Given the description of an element on the screen output the (x, y) to click on. 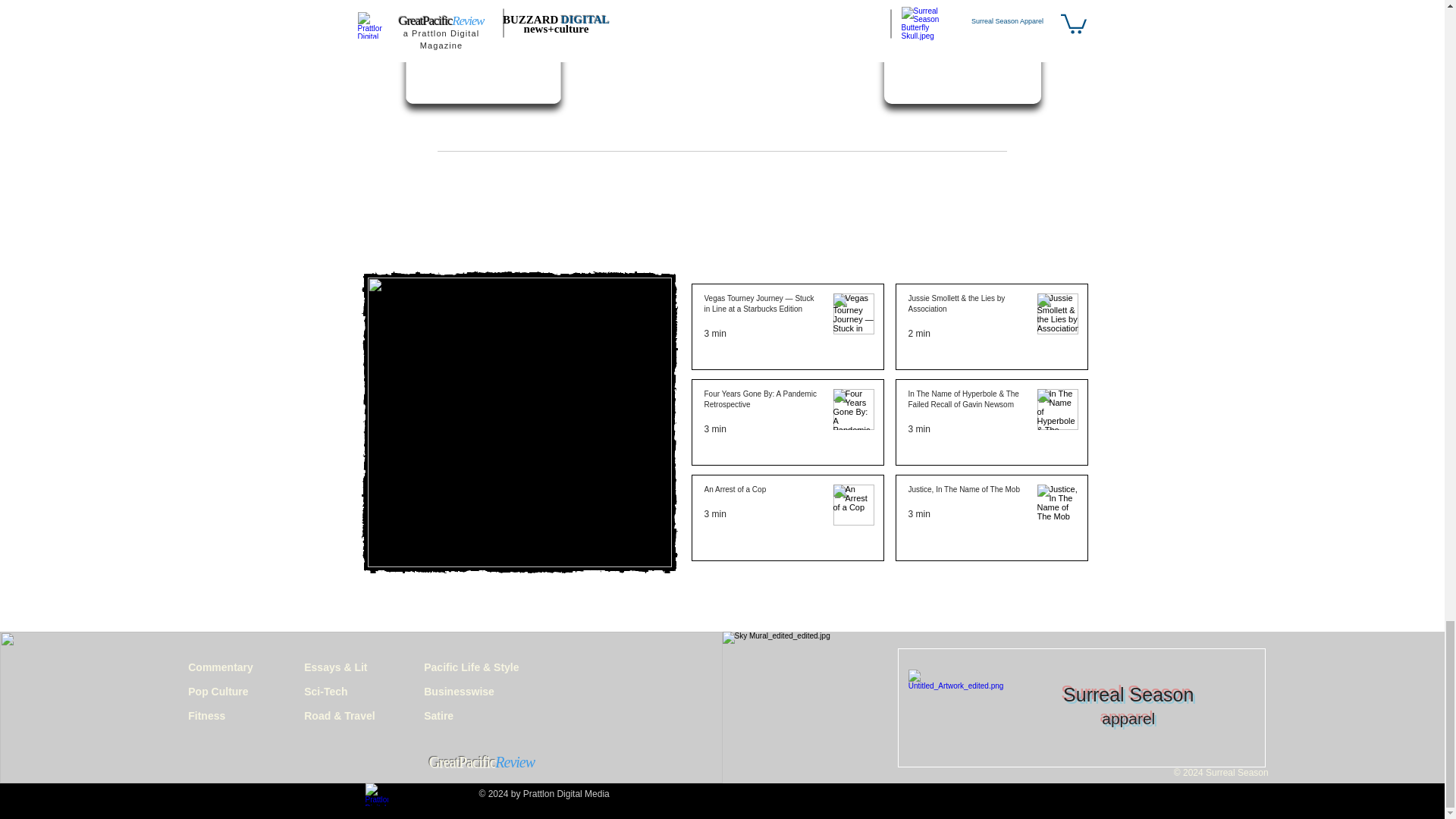
3 min (714, 513)
2 min (919, 333)
3 min (919, 429)
3 min (714, 333)
3 min (919, 513)
3 min (714, 429)
Image 5-27-23 at 12.46 PM.jpeg (482, 52)
